Given the description of an element on the screen output the (x, y) to click on. 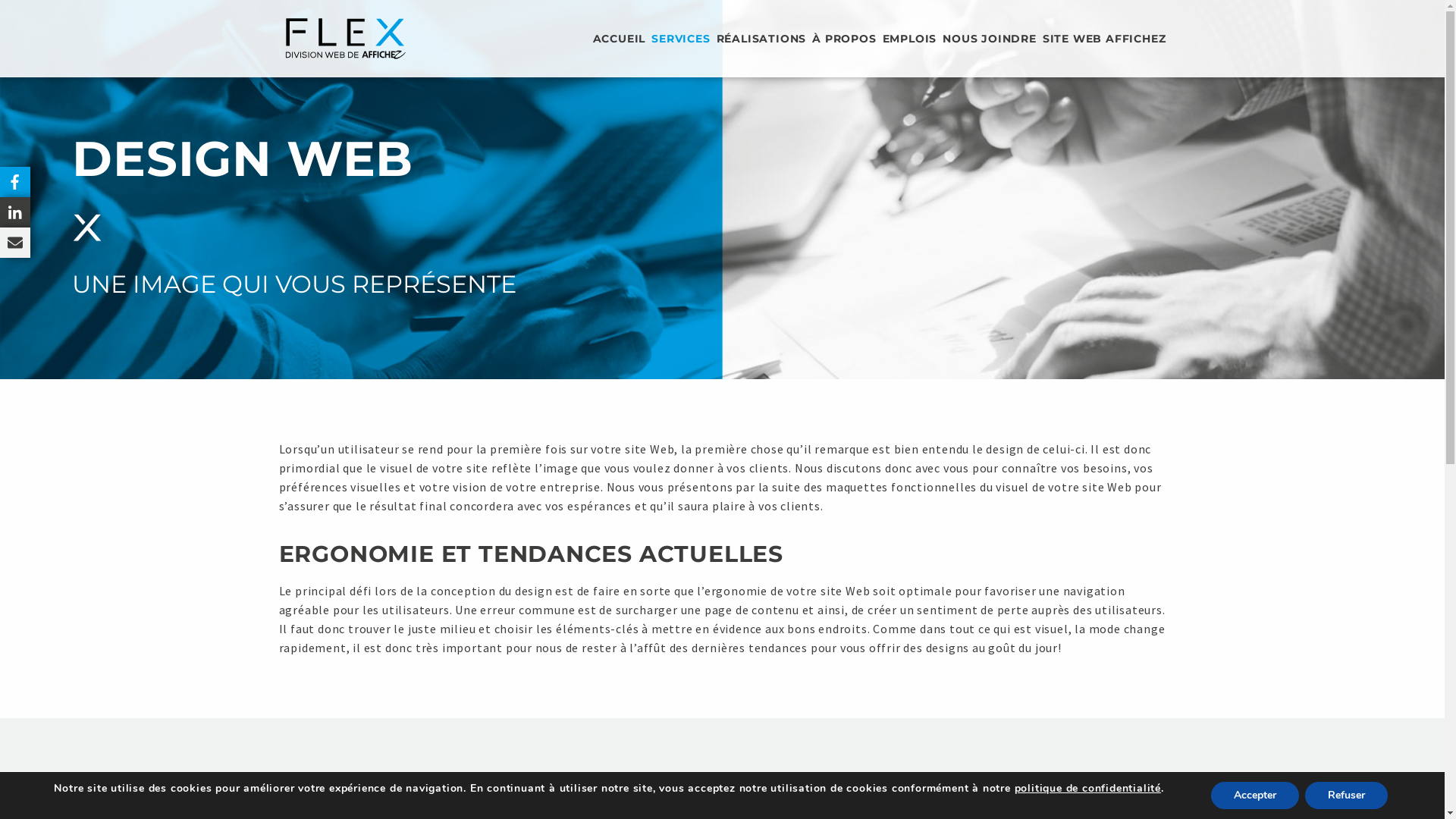
SITE WEB AFFICHEZ Element type: text (1104, 38)
EMPLOIS Element type: text (909, 38)
Accepter Element type: text (1254, 795)
Refuser Element type: text (1345, 795)
NOUS JOINDRE Element type: text (989, 38)
ACCUEIL Element type: text (619, 38)
SERVICES Element type: text (680, 38)
